Given the description of an element on the screen output the (x, y) to click on. 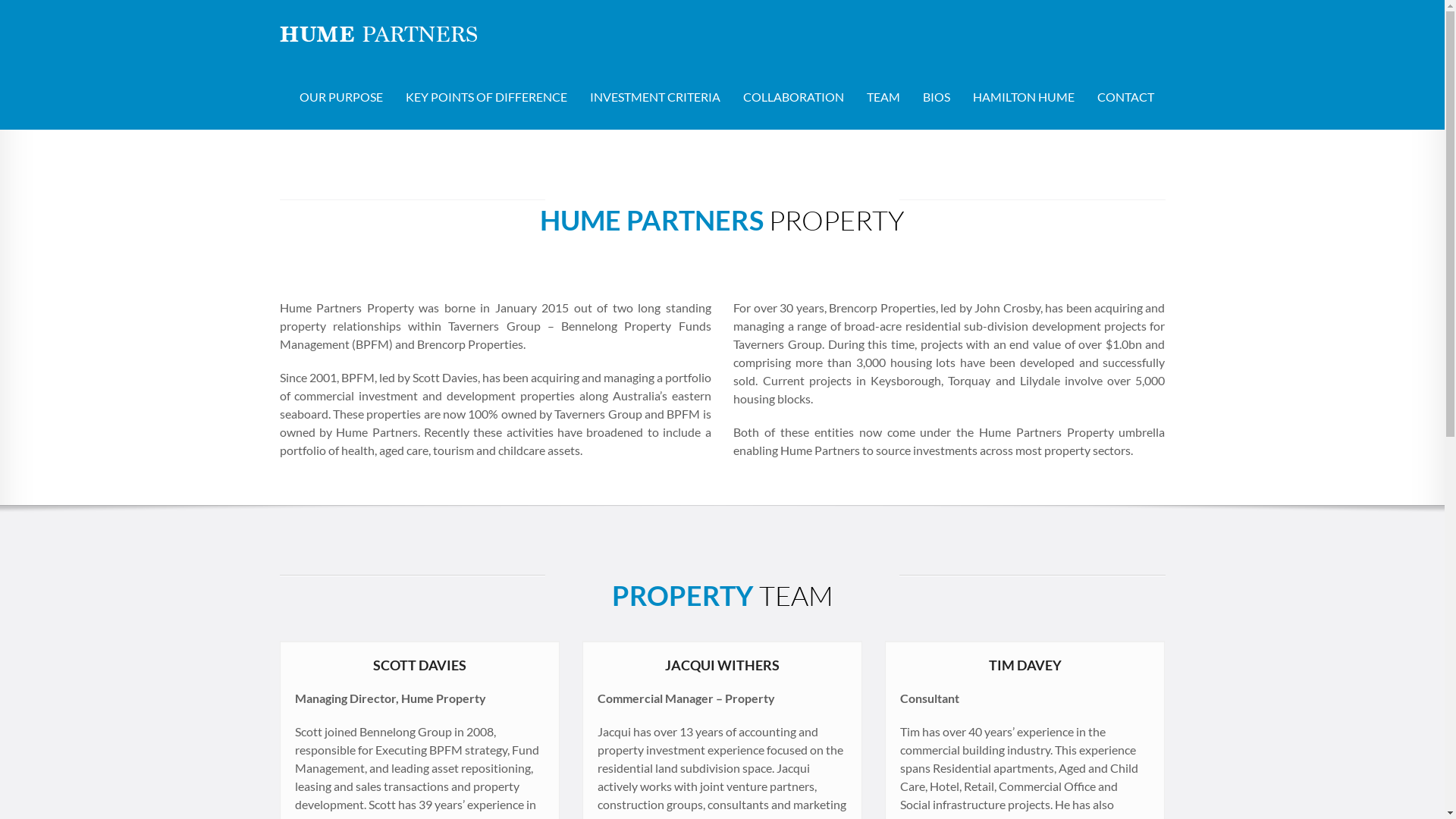
TEAM Element type: text (883, 96)
HAMILTON HUME Element type: text (1023, 96)
CONTACT Element type: text (1125, 96)
INVESTMENT CRITERIA Element type: text (654, 96)
COLLABORATION Element type: text (792, 96)
BIOS Element type: text (936, 96)
KEY POINTS OF DIFFERENCE Element type: text (486, 96)
OUR PURPOSE Element type: text (341, 96)
